Given the description of an element on the screen output the (x, y) to click on. 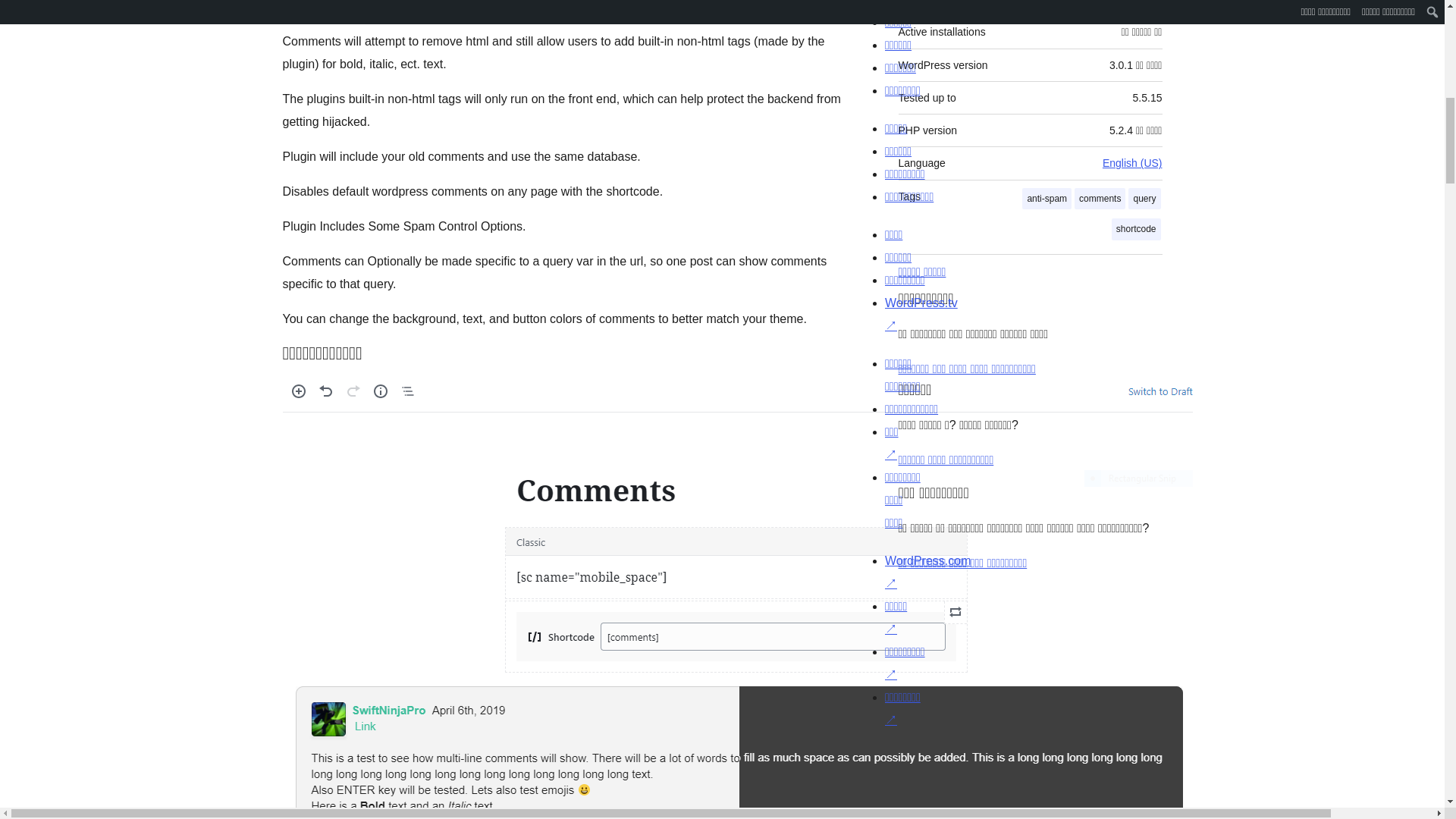
WordPress.org (864, 751)
WordPress.org (1014, 751)
